Given the description of an element on the screen output the (x, y) to click on. 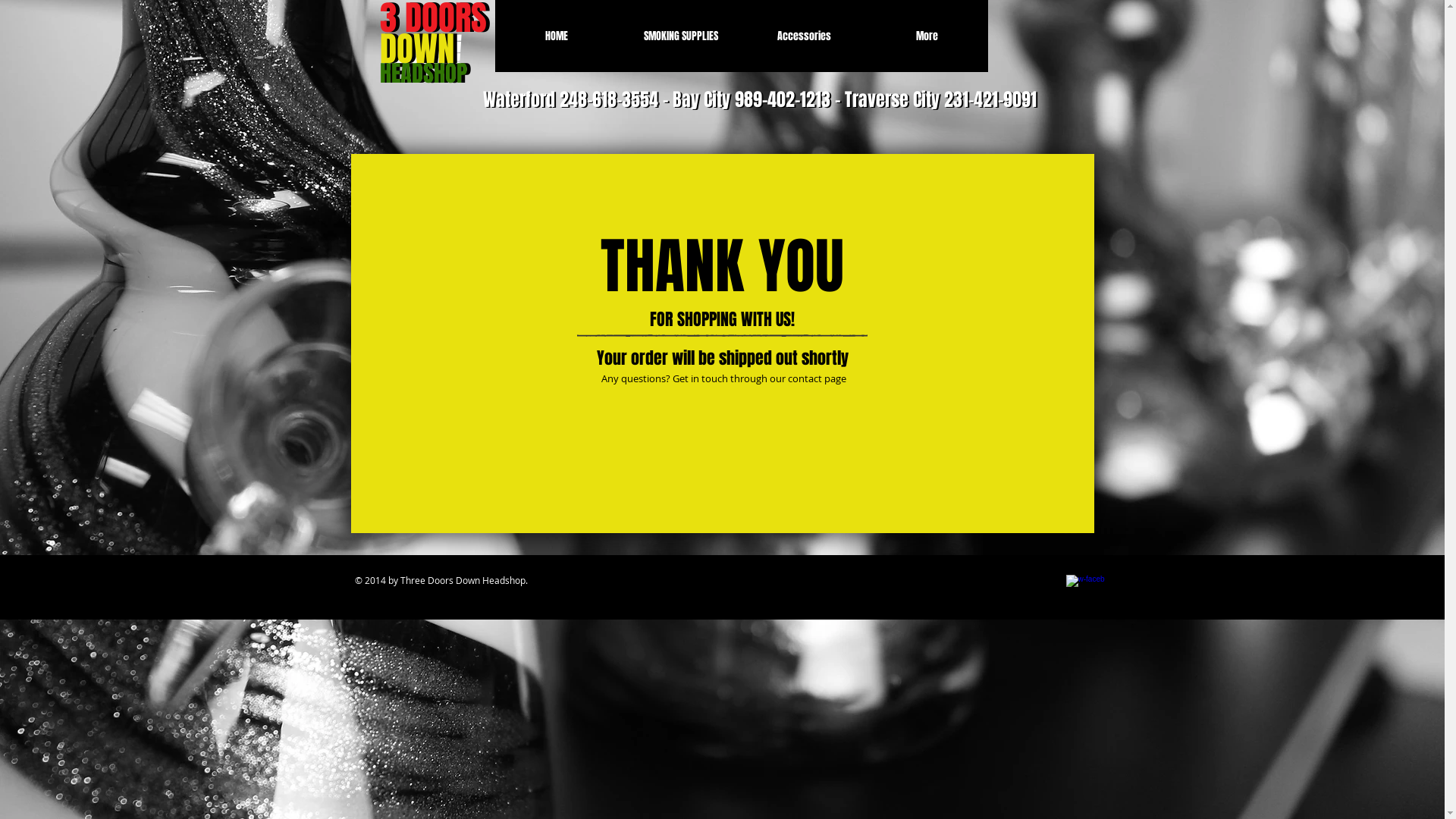
HOME Element type: text (556, 36)
Accessories Element type: text (802, 36)
SMOKING SUPPLIES Element type: text (680, 36)
